Given the description of an element on the screen output the (x, y) to click on. 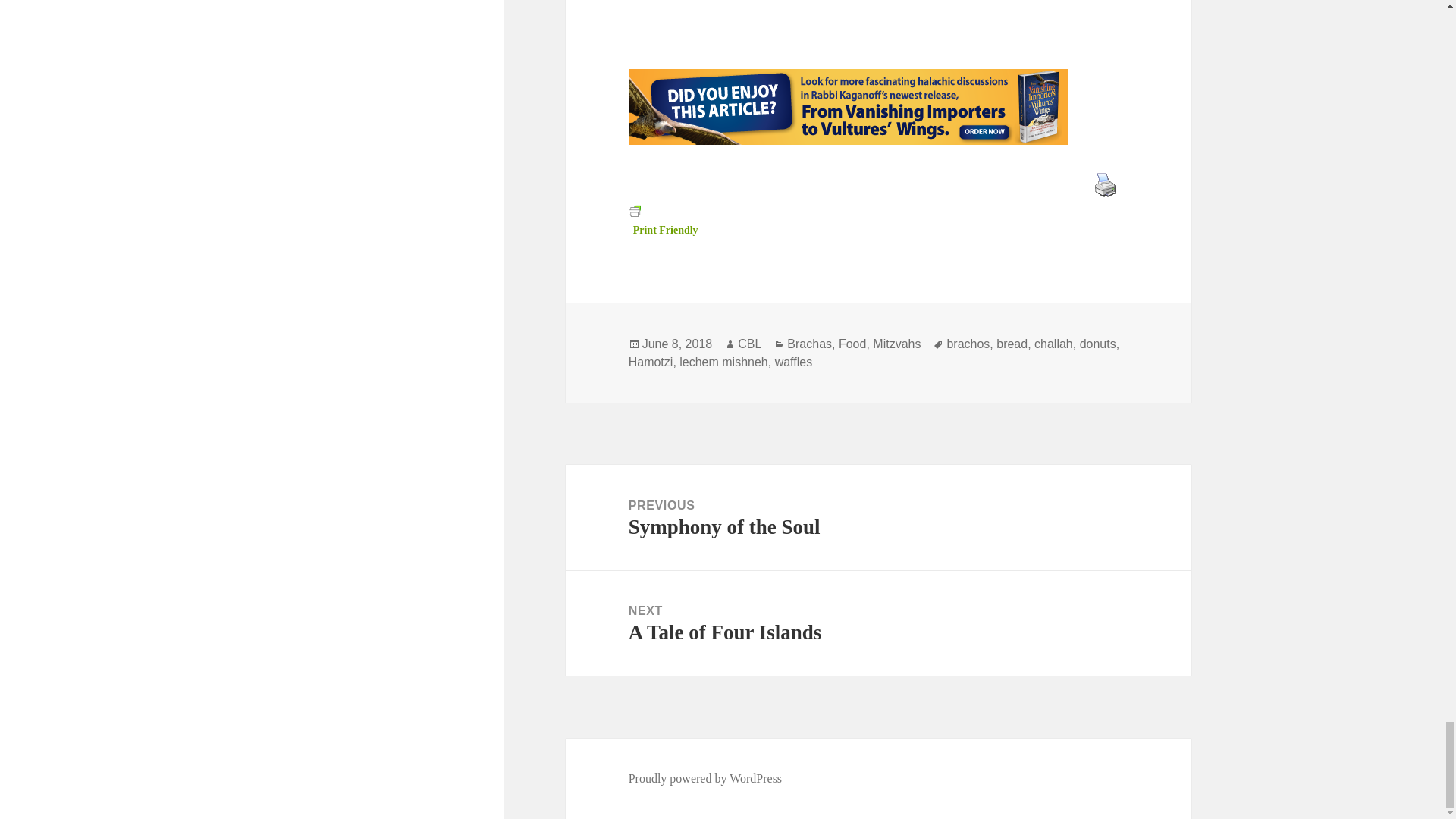
waffles (793, 362)
Food (852, 344)
donuts (1098, 344)
Mitzvahs (896, 344)
challah (1053, 344)
lechem mishneh (723, 362)
June 8, 2018 (677, 344)
brachos (968, 344)
Proudly powered by WordPress (878, 623)
Print Friendly (704, 778)
Brachas (663, 219)
CBL (809, 344)
Hamotzi (749, 344)
bread (650, 362)
